Given the description of an element on the screen output the (x, y) to click on. 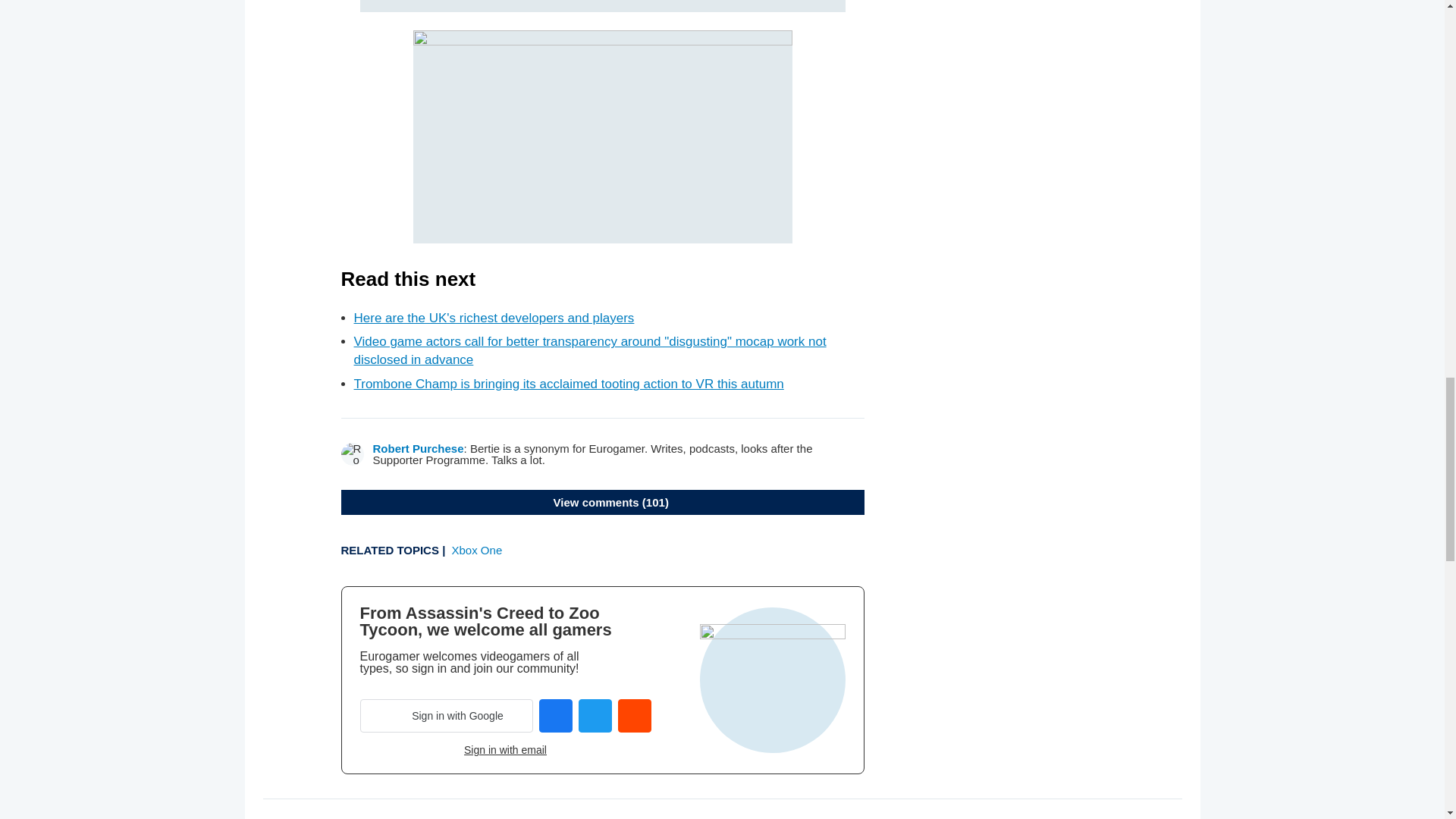
Here are the UK's richest developers and players (493, 318)
Sign in with Google (445, 715)
Sign in with Google (445, 715)
Xbox One (476, 549)
Robert Purchese (418, 448)
